Given the description of an element on the screen output the (x, y) to click on. 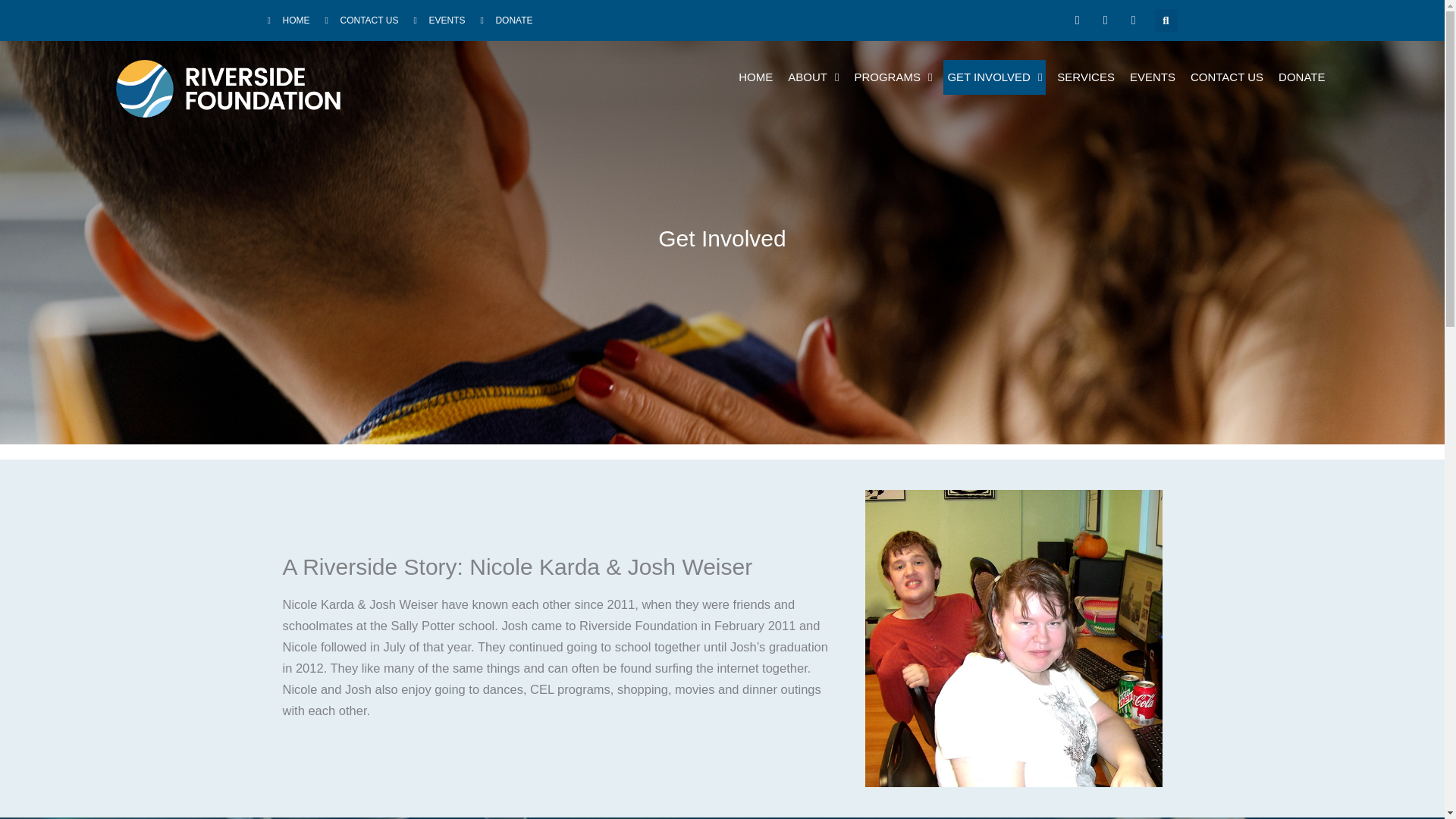
PROGRAMS (893, 77)
ABOUT (813, 77)
SERVICES (1085, 77)
HOME (755, 77)
DONATE (506, 20)
HOME (287, 20)
EVENTS (1152, 77)
CONTACT US (1226, 77)
CONTACT US (360, 20)
DONATE (1301, 77)
GET INVOLVED (994, 77)
EVENTS (438, 20)
